Given the description of an element on the screen output the (x, y) to click on. 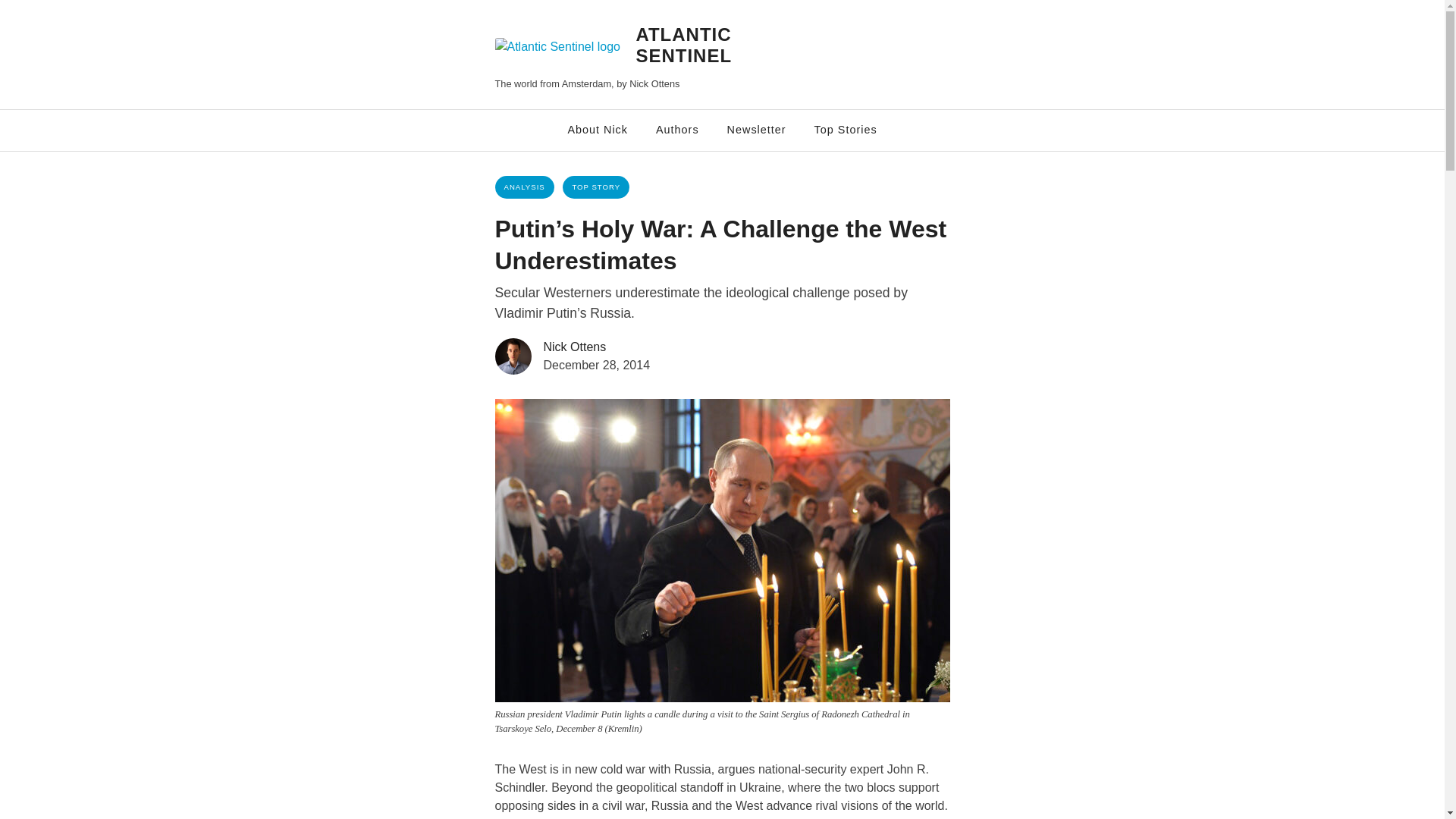
Top Stories (845, 129)
ATLANTIC SENTINEL (683, 45)
Authors (677, 129)
About Nick (597, 129)
Nick Ottens (574, 346)
ANALYSIS (524, 187)
Newsletter (756, 129)
Authors (677, 129)
TOP STORY (595, 187)
About Nick (597, 129)
Top Stories (845, 129)
